Given the description of an element on the screen output the (x, y) to click on. 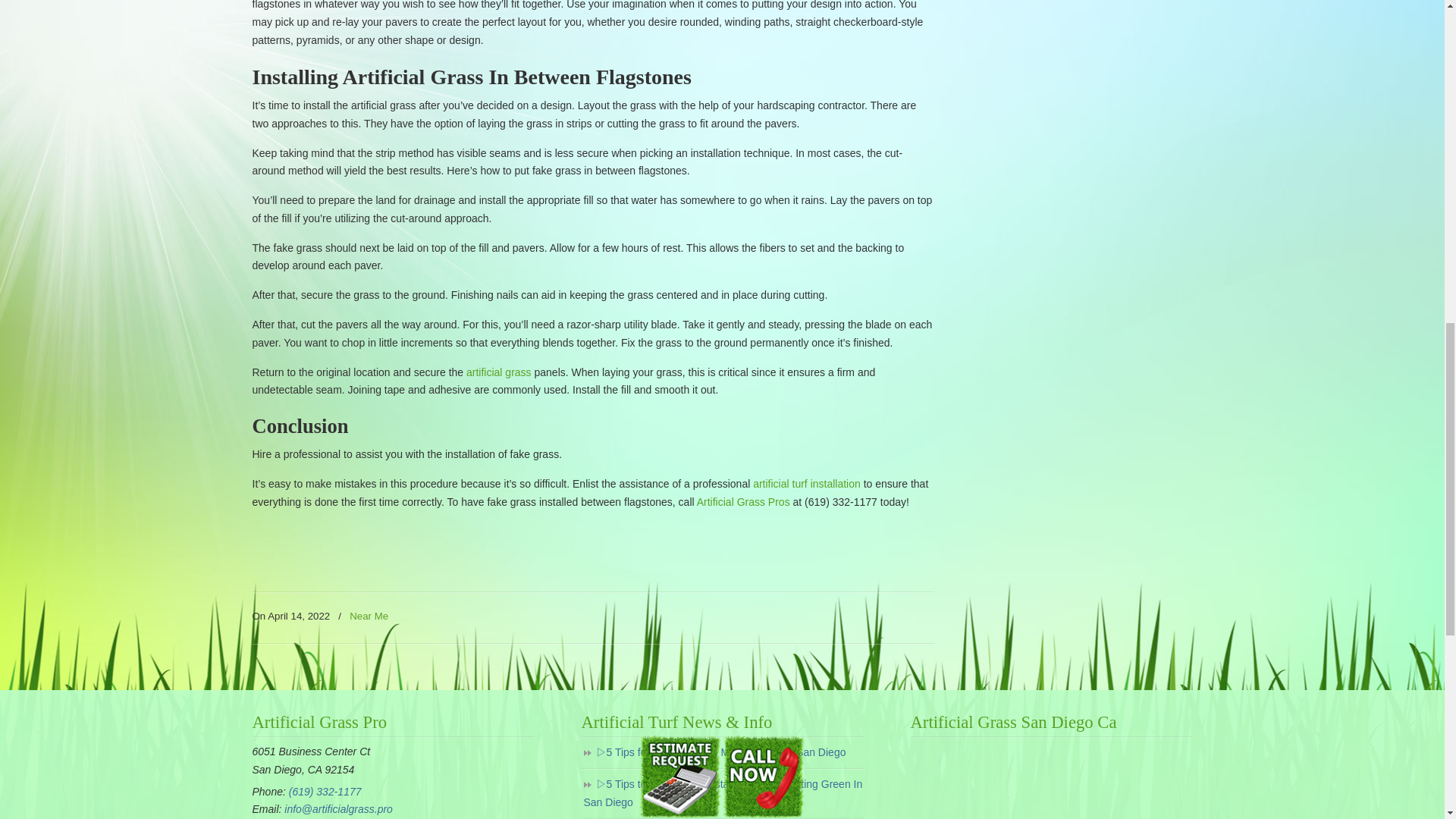
artificial turf installation (806, 483)
Near Me (368, 616)
artificial grass (498, 372)
Phone (324, 791)
Artificial Grass Pros (743, 501)
